Given the description of an element on the screen output the (x, y) to click on. 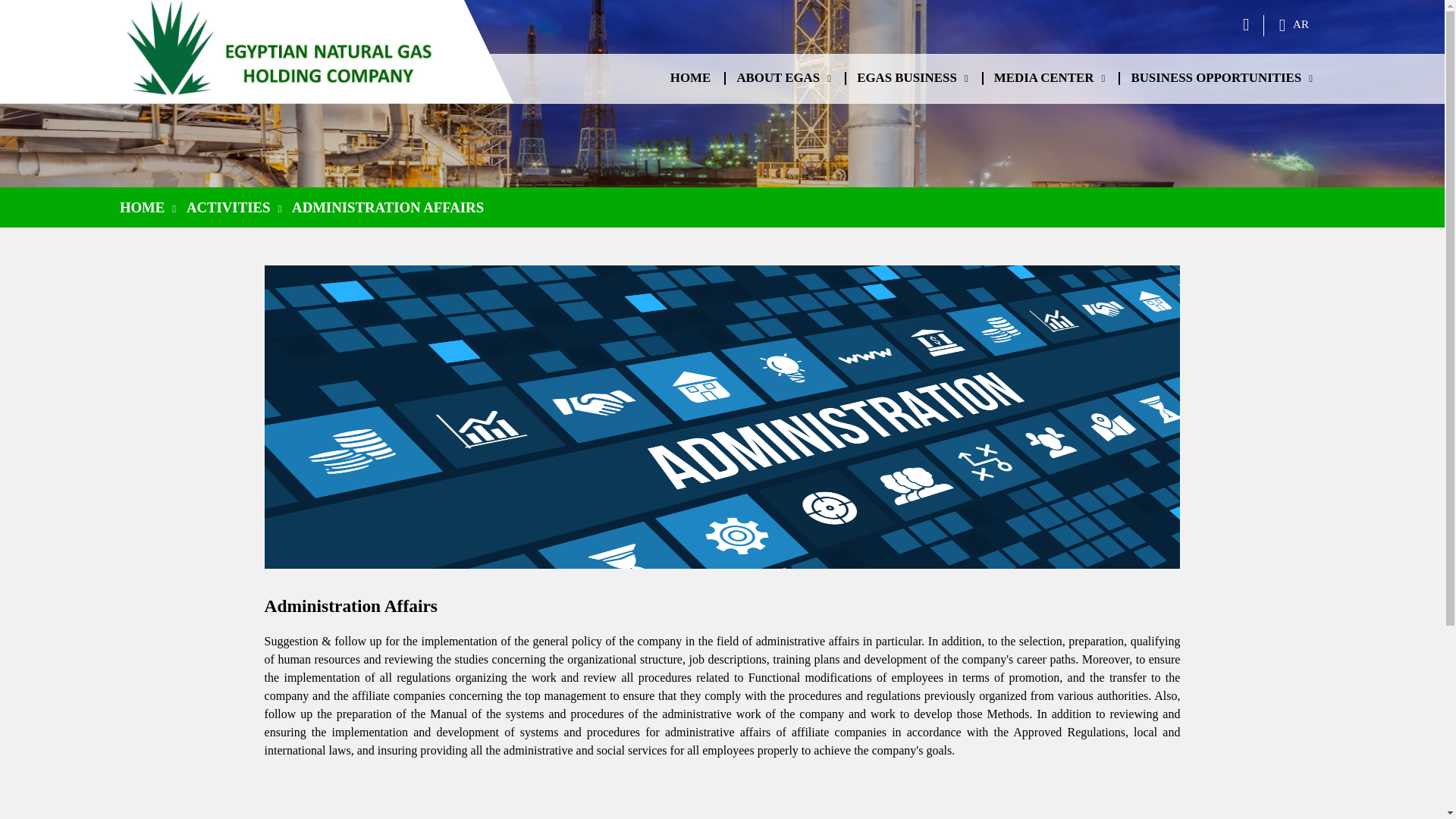
BUSINESS OPPORTUNITIES (1221, 78)
ABOUT EGAS (782, 78)
HOME (690, 78)
EGAS BUSINESS (911, 78)
AR (1293, 24)
EGAS Logo (285, 51)
MEDIA CENTER (1048, 78)
